Given the description of an element on the screen output the (x, y) to click on. 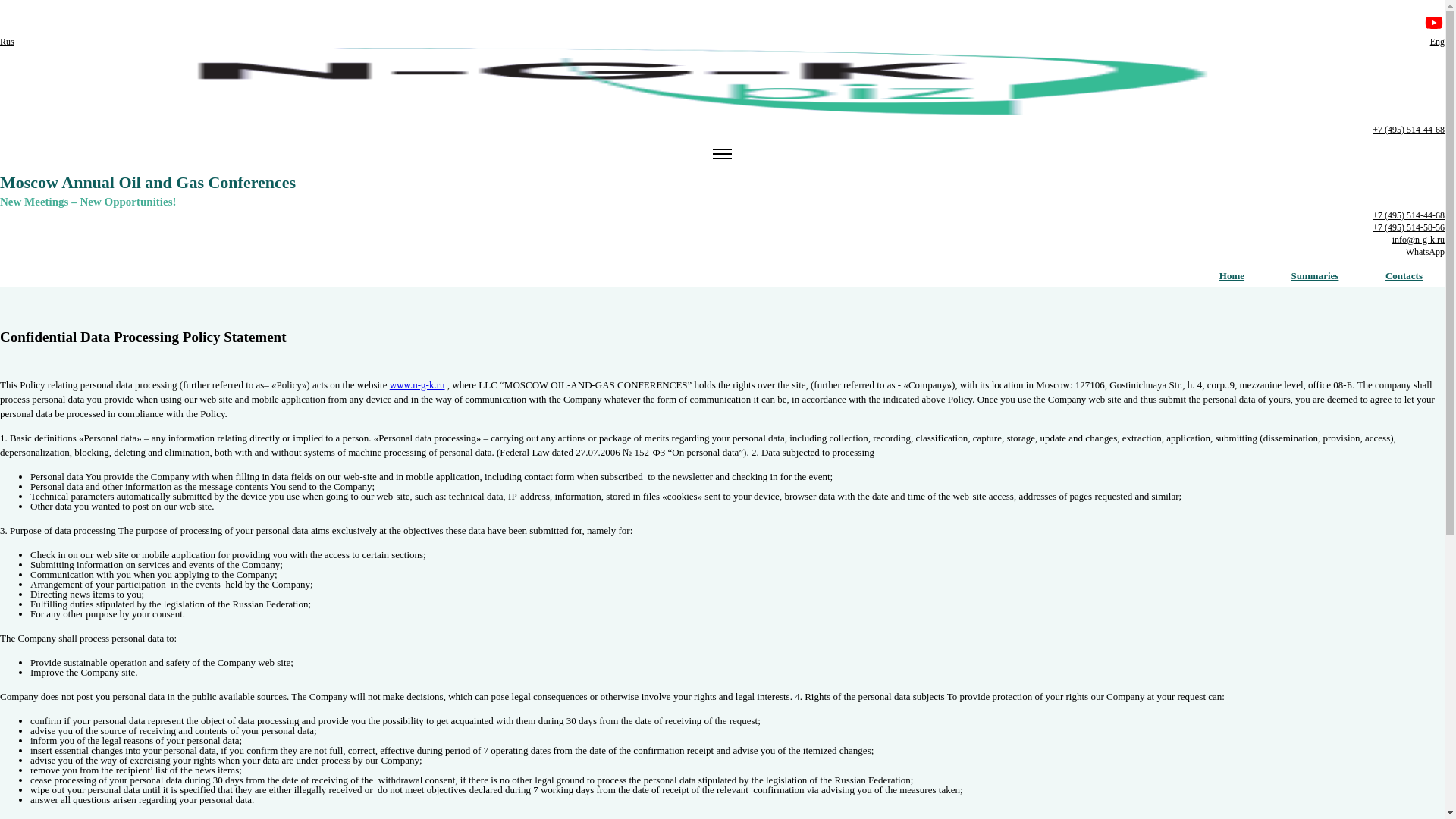
www.n-g-k.ru (417, 384)
Contacts (1404, 275)
Home (1232, 275)
Rus (7, 41)
Summaries (1315, 275)
